Given the description of an element on the screen output the (x, y) to click on. 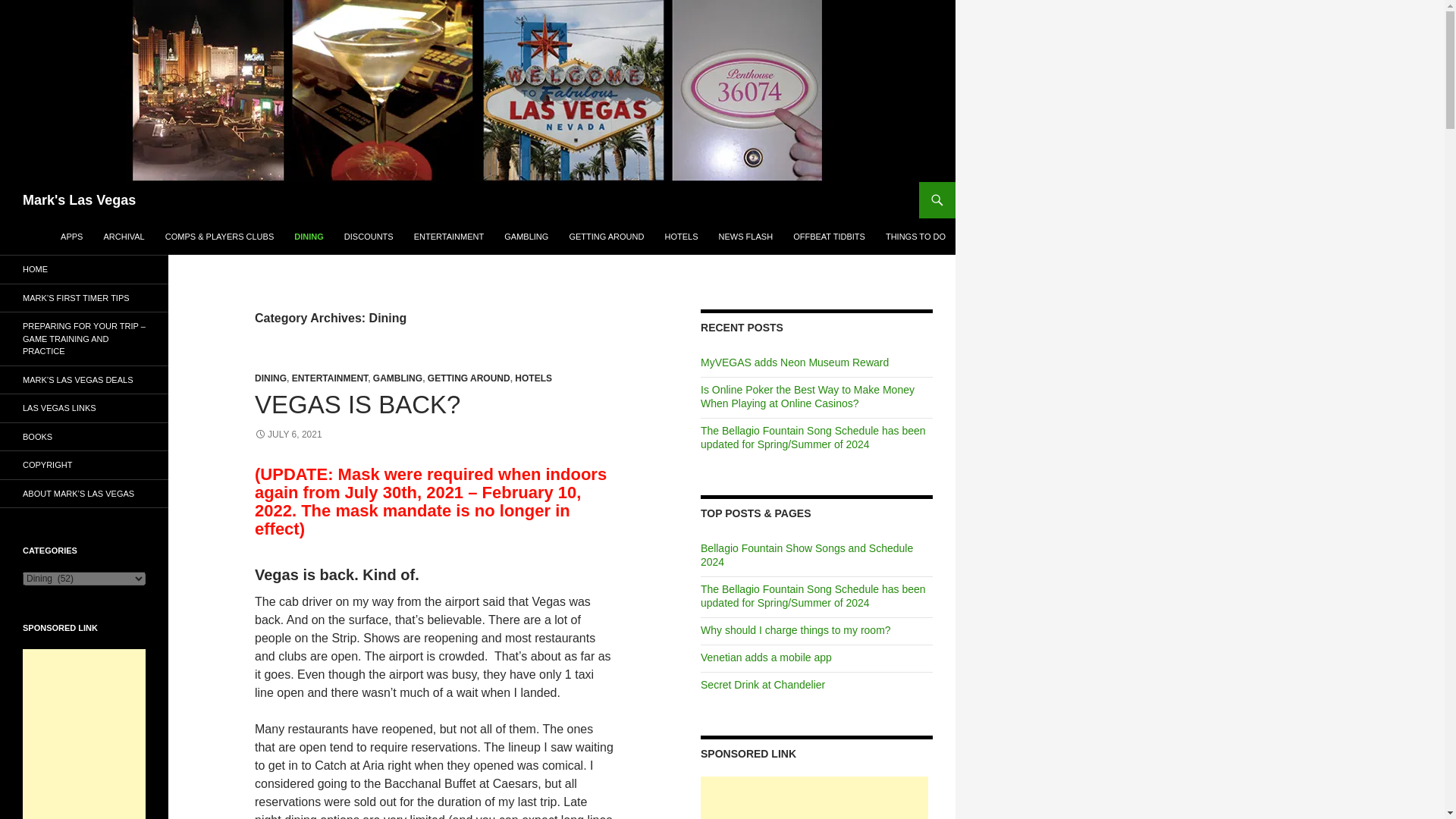
GETTING AROUND (605, 236)
GAMBLING (397, 378)
HOTELS (533, 378)
OFFBEAT TIDBITS (829, 236)
DINING (270, 378)
ARCHIVAL (124, 236)
GAMBLING (526, 236)
Advertisement (814, 797)
Mark's Las Vegas (79, 199)
ENTERTAINMENT (448, 236)
VEGAS IS BACK? (357, 404)
HOTELS (680, 236)
GETTING AROUND (469, 378)
DISCOUNTS (368, 236)
